Given the description of an element on the screen output the (x, y) to click on. 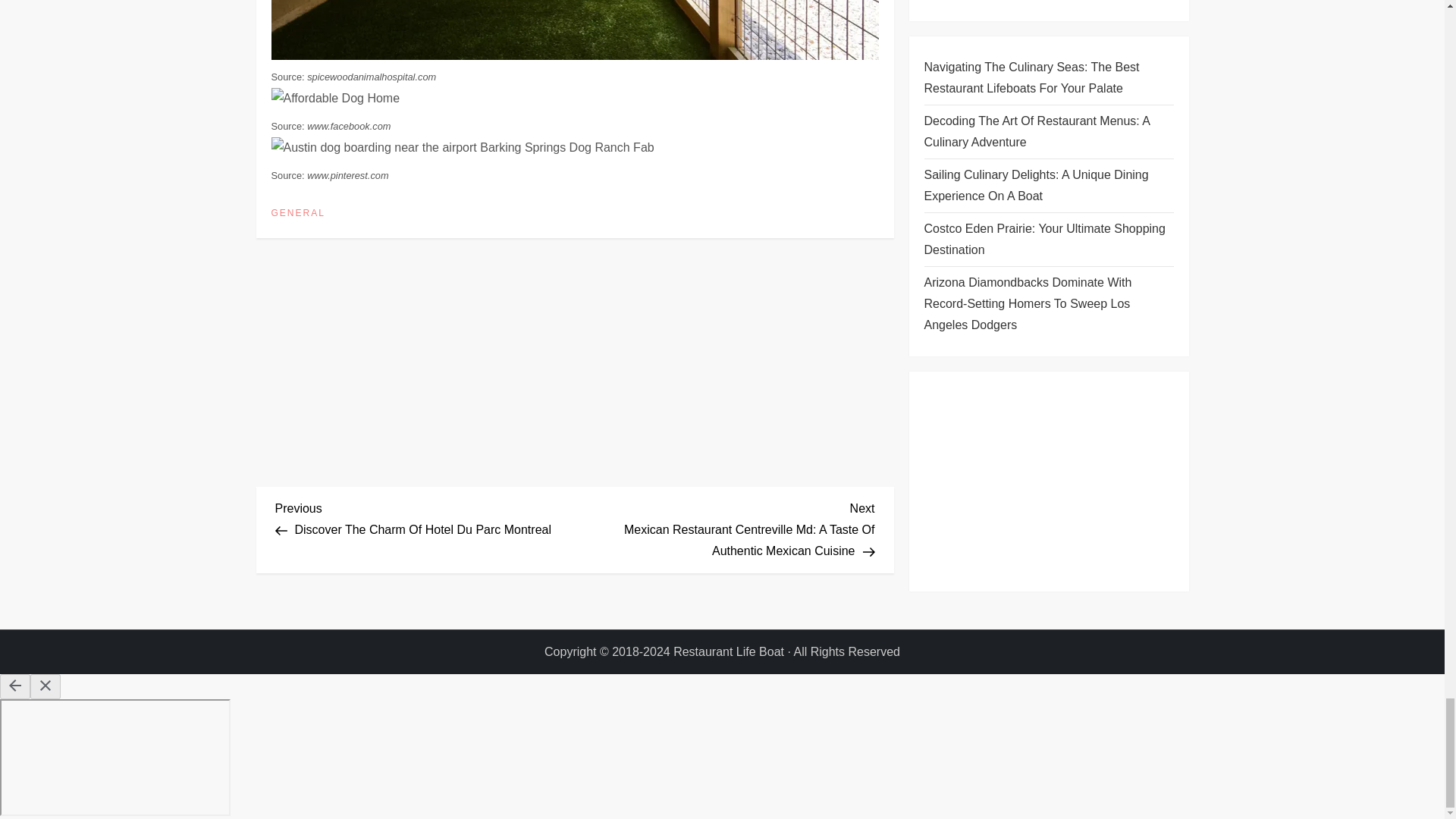
GENERAL (297, 214)
